Given the description of an element on the screen output the (x, y) to click on. 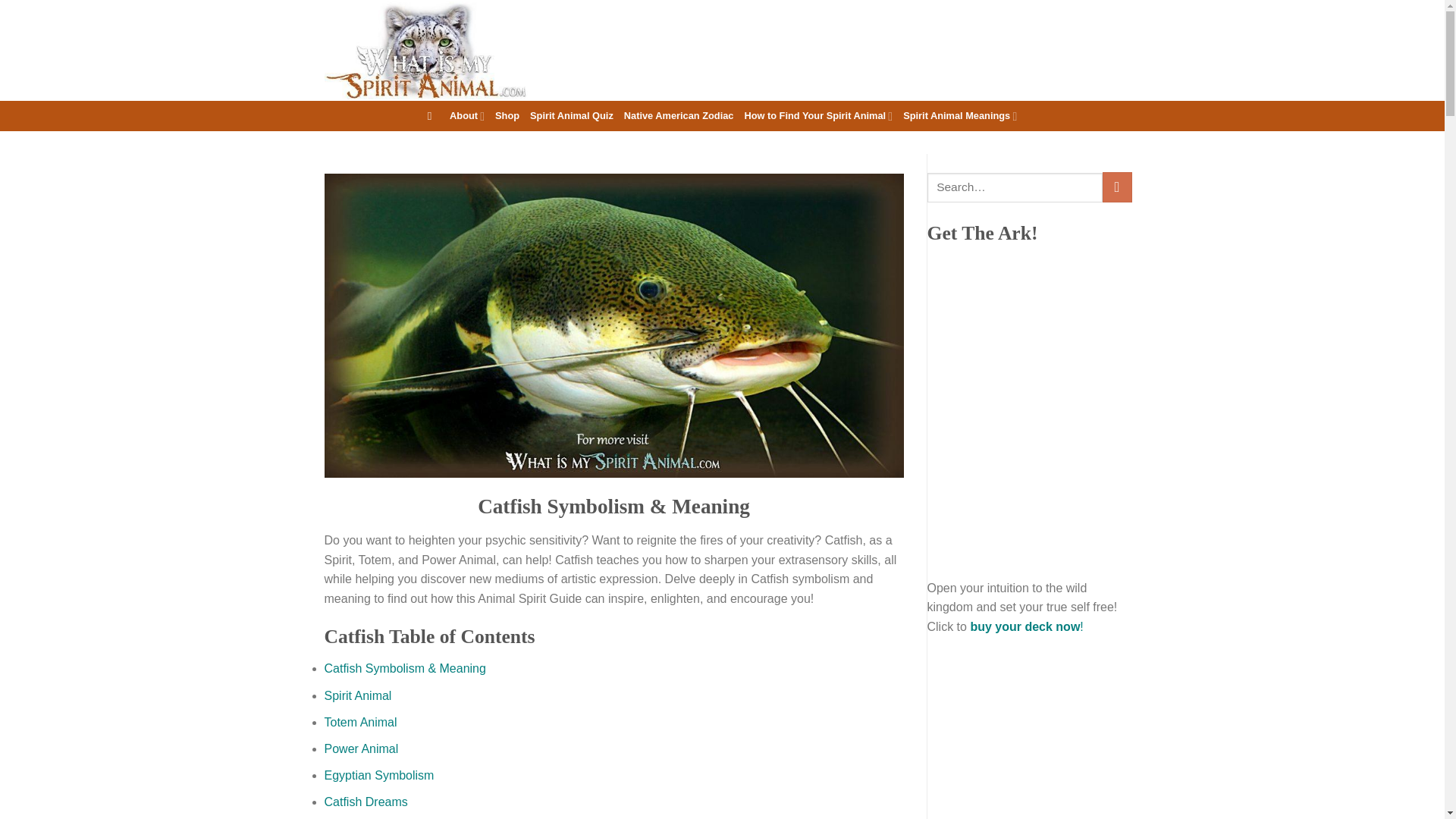
Power Animal (361, 748)
Spirit Animal Quiz (570, 115)
Catfish Dreams (365, 801)
About (466, 115)
Egyptian Symbolism (378, 775)
Spirit Animal (357, 695)
Spirit Animal Meanings (959, 115)
Totem Animal (360, 721)
Native American Zodiac (678, 115)
How to Find Your Spirit Animal (818, 115)
